Given the description of an element on the screen output the (x, y) to click on. 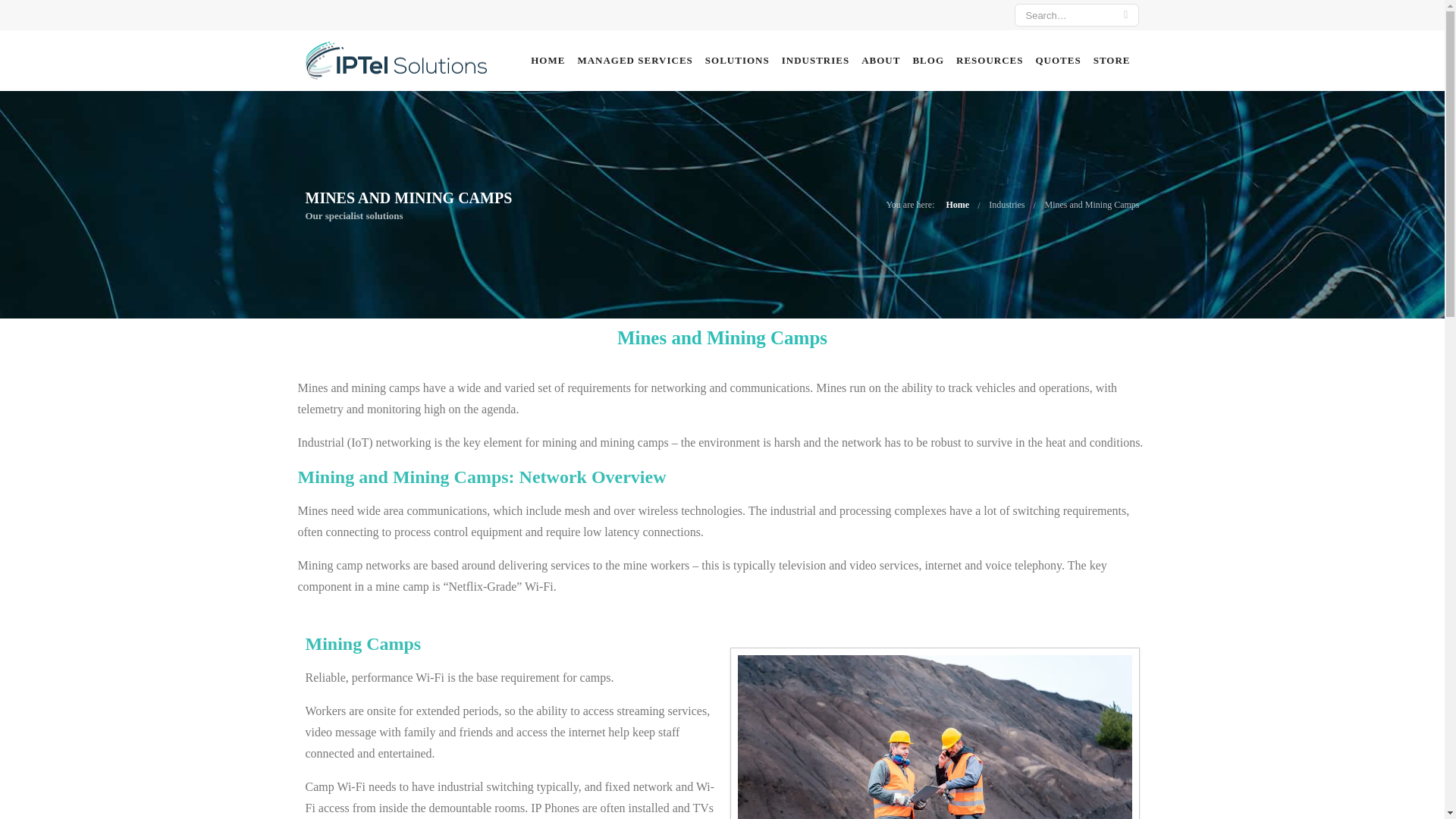
Mines and Mining Camps Element type: text (1091, 204)
Industries Element type: text (1006, 204)
QUOTES Element type: text (1057, 60)
HOME Element type: text (547, 60)
ABOUT Element type: text (880, 60)
BLOG Element type: text (928, 60)
RESOURCES Element type: text (989, 60)
SOLUTIONS Element type: text (737, 60)
STORE Element type: text (1111, 60)
MANAGED SERVICES Element type: text (634, 60)
INDUSTRIES Element type: text (815, 60)
Home Element type: text (957, 204)
